Given the description of an element on the screen output the (x, y) to click on. 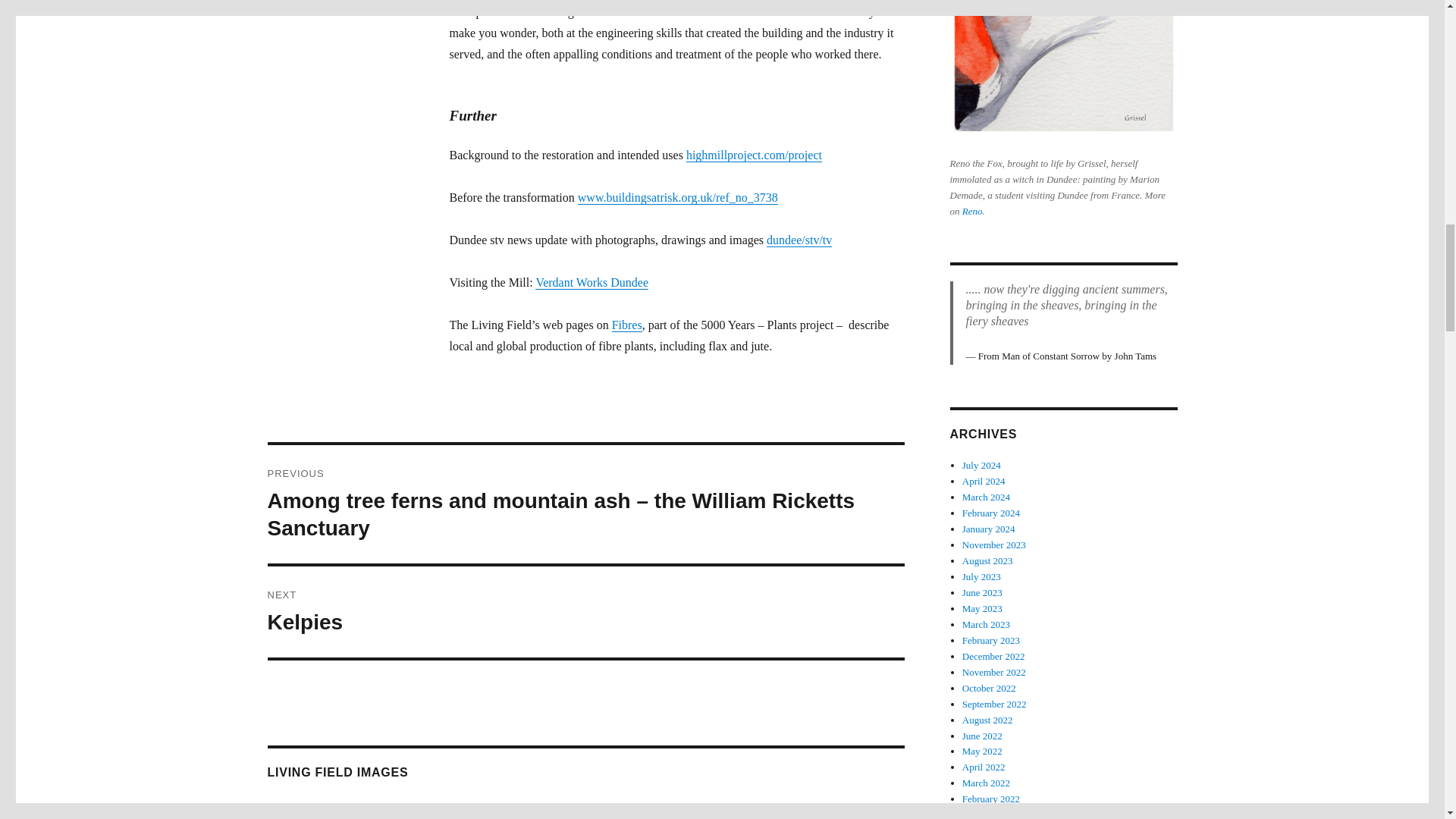
LIVING FIELD IMAGES (475, 807)
